Given the description of an element on the screen output the (x, y) to click on. 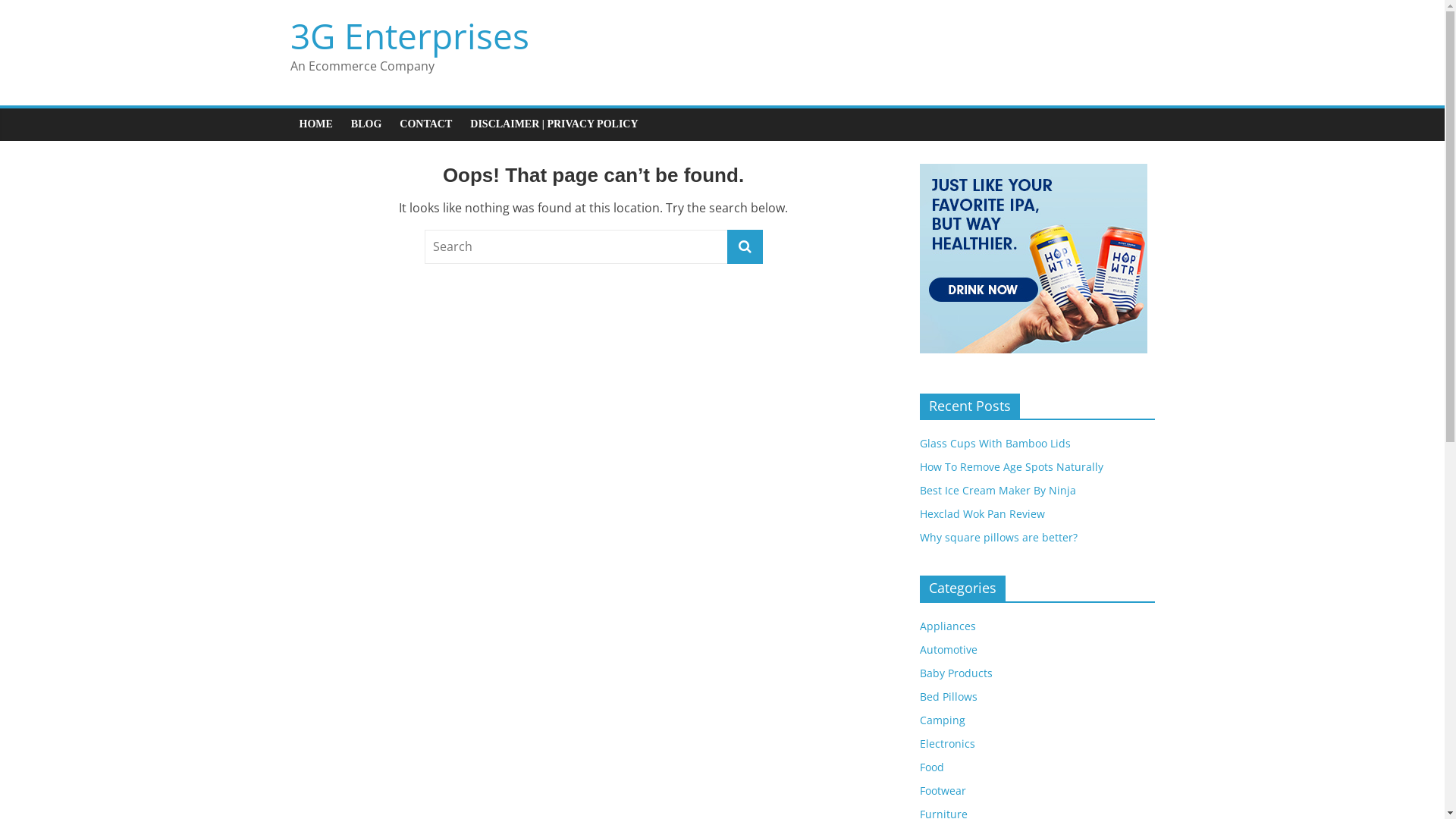
DISCLAIMER | PRIVACY POLICY Element type: text (553, 124)
Glass Cups With Bamboo Lids Element type: text (994, 443)
Best Ice Cream Maker By Ninja Element type: text (997, 490)
3G Enterprises Element type: text (408, 35)
HOME Element type: text (315, 124)
Why square pillows are better? Element type: text (997, 537)
Footwear Element type: text (942, 790)
CONTACT Element type: text (425, 124)
How To Remove Age Spots Naturally Element type: text (1010, 466)
Automotive Element type: text (947, 649)
Hexclad Wok Pan Review Element type: text (981, 513)
Electronics Element type: text (946, 743)
Camping Element type: text (941, 719)
Food Element type: text (931, 766)
Bed Pillows Element type: text (947, 696)
BLOG Element type: text (366, 124)
Baby Products Element type: text (955, 672)
Appliances Element type: text (947, 625)
